Given the description of an element on the screen output the (x, y) to click on. 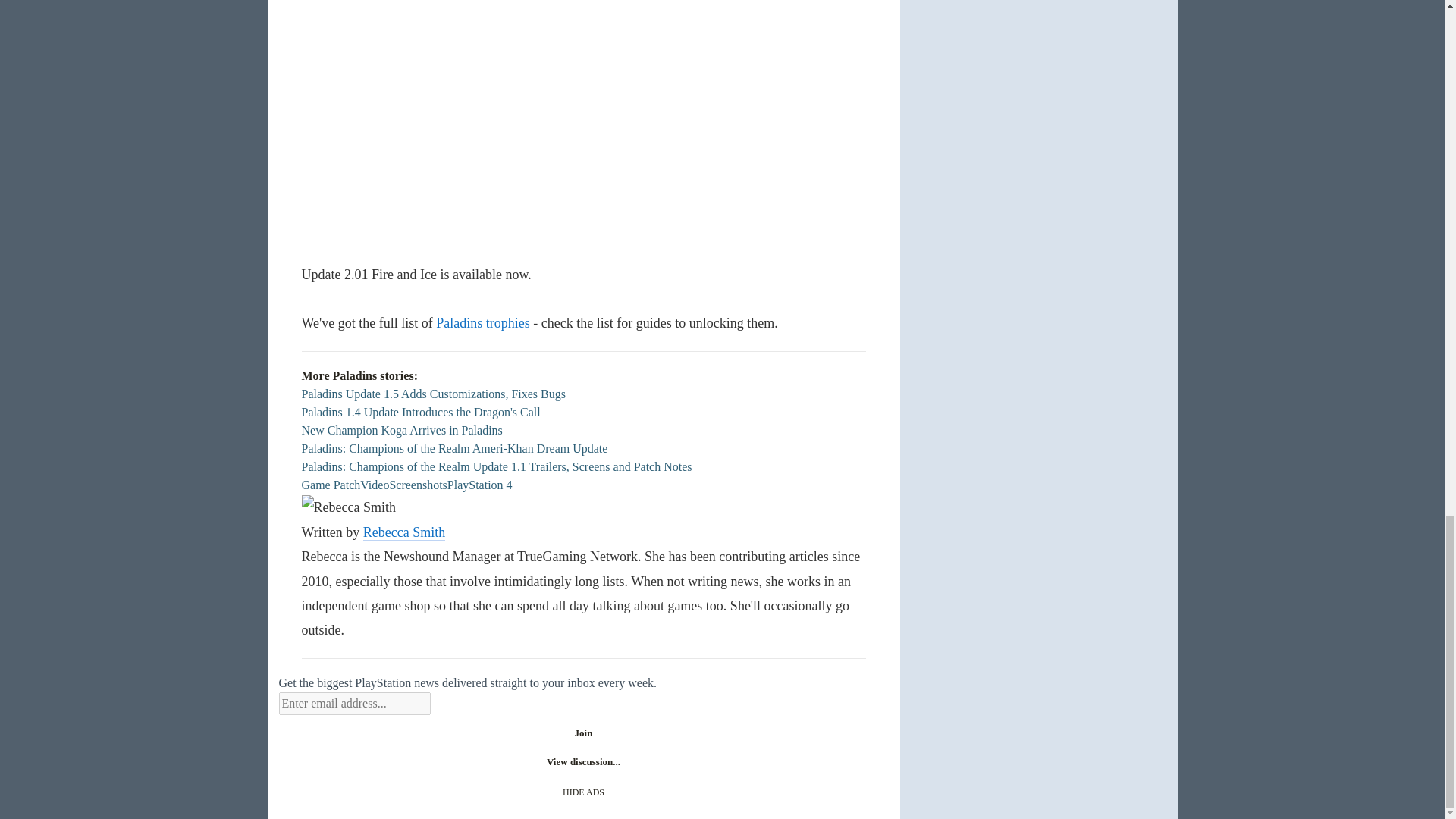
Rebecca Smith (348, 507)
